Given the description of an element on the screen output the (x, y) to click on. 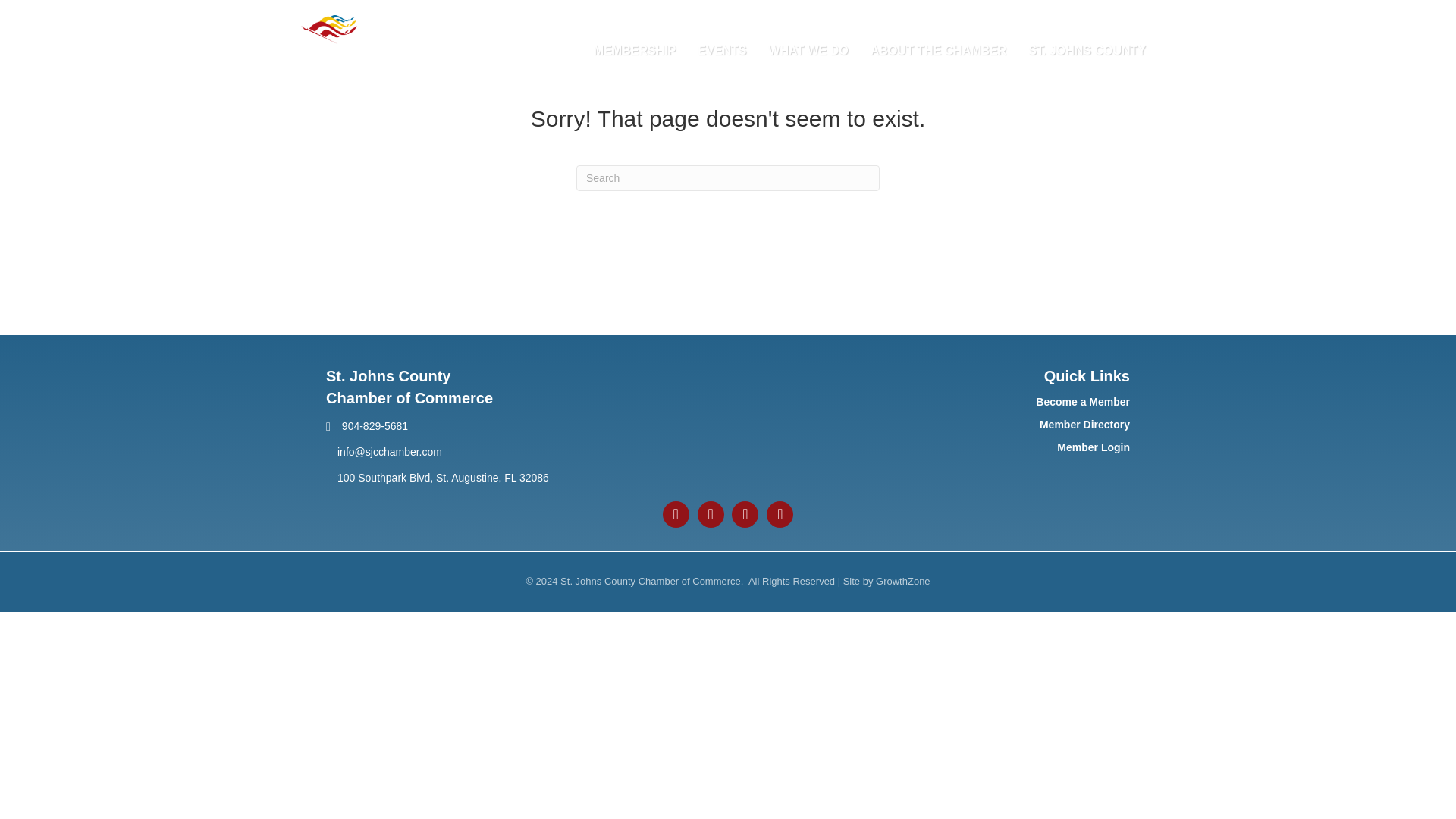
MEMBERSHIP (634, 50)
ST. JOHNS COUNTY (1086, 50)
WHAT WE DO (808, 50)
EVENTS (722, 50)
ABOUT THE CHAMBER (938, 50)
Type and press Enter to search. (727, 177)
